Given the description of an element on the screen output the (x, y) to click on. 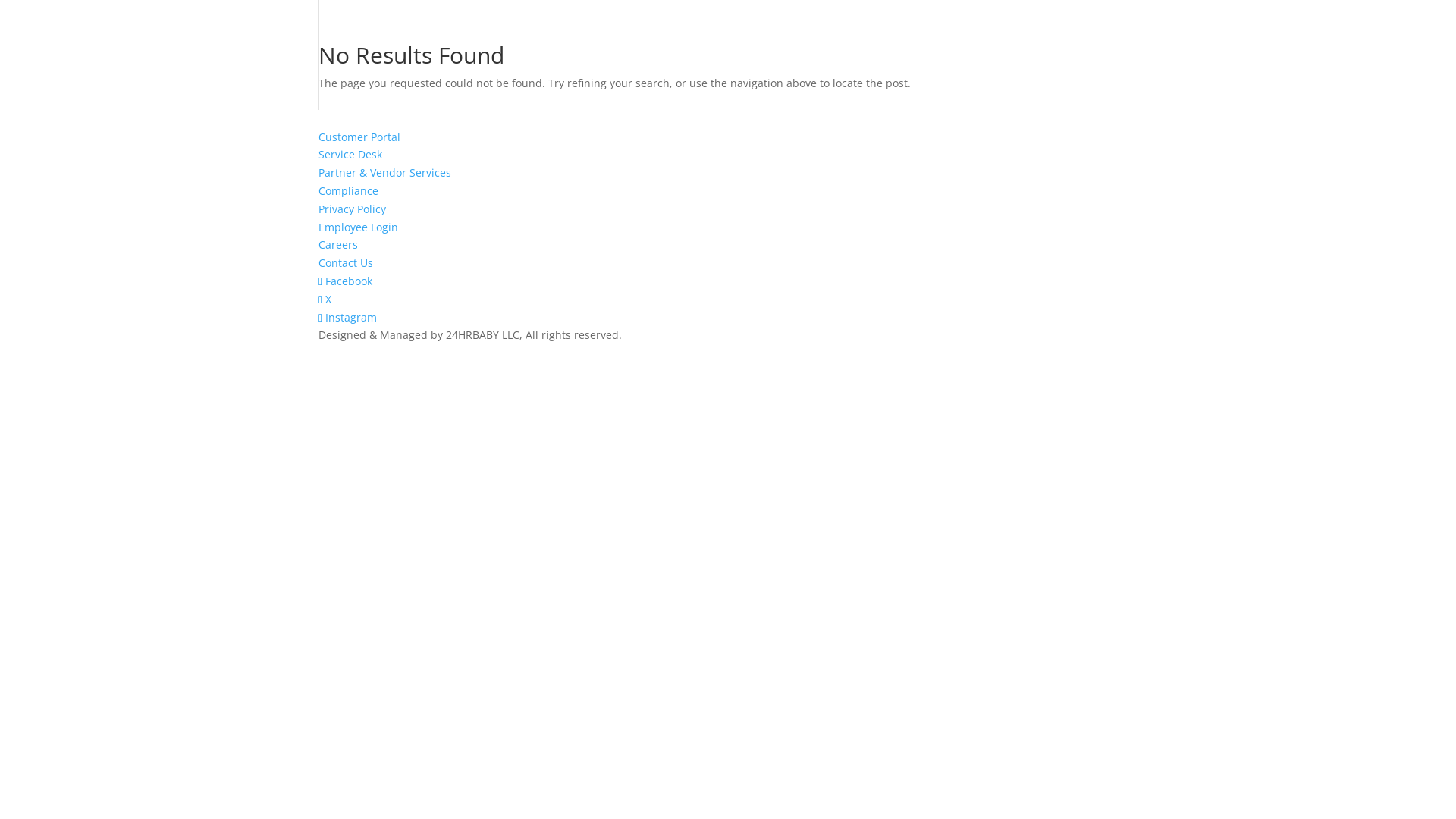
Employee Login Element type: text (358, 226)
Careers Element type: text (337, 244)
Compliance Element type: text (348, 190)
Facebook Element type: text (345, 280)
Service Desk Element type: text (350, 154)
Privacy Policy Element type: text (351, 208)
Instagram Element type: text (347, 317)
X Element type: text (324, 298)
Customer Portal Element type: text (359, 136)
Contact Us Element type: text (345, 262)
Partner & Vendor Services Element type: text (384, 172)
